Given the description of an element on the screen output the (x, y) to click on. 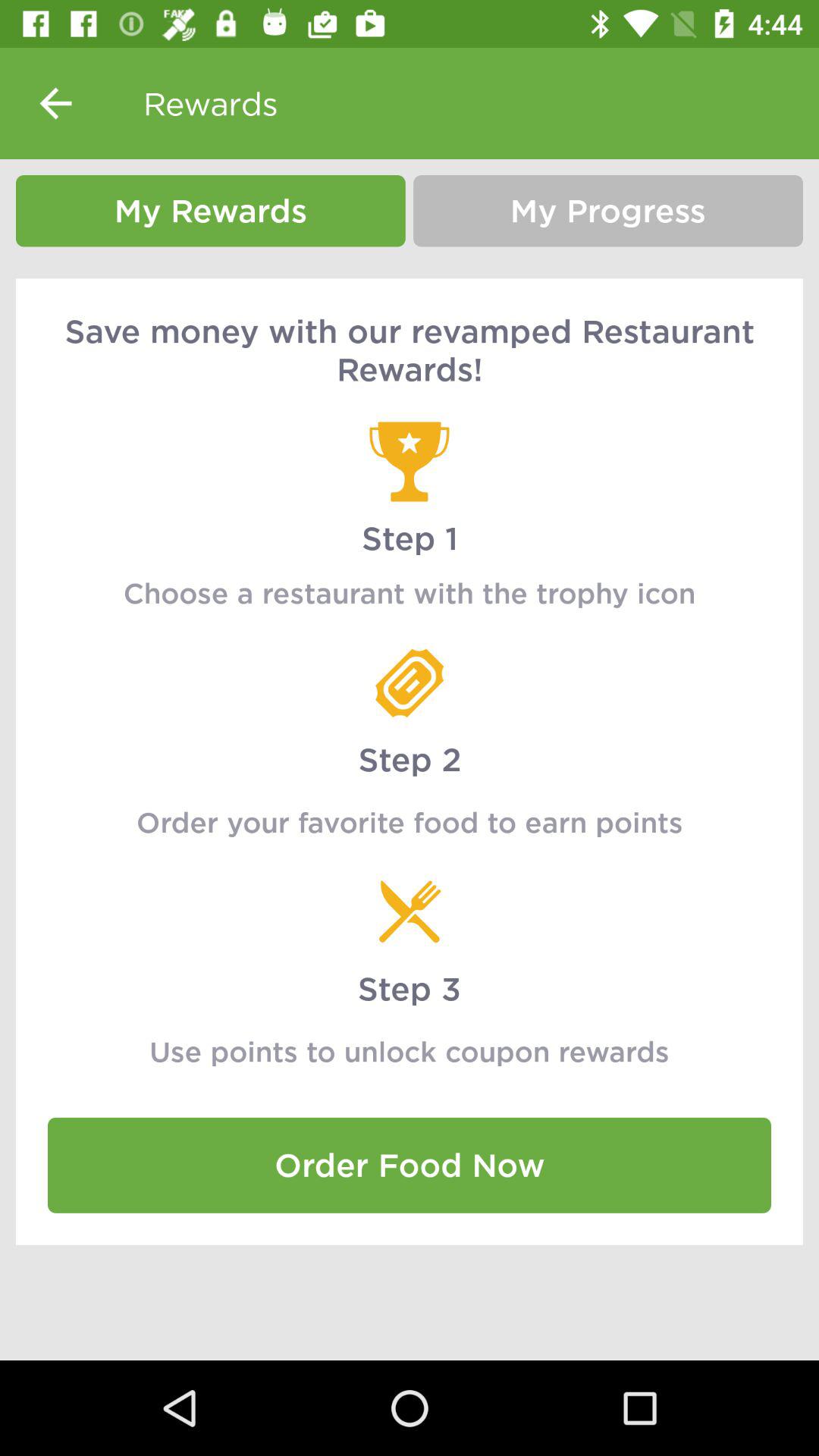
select the icon next to my progress icon (210, 210)
